Given the description of an element on the screen output the (x, y) to click on. 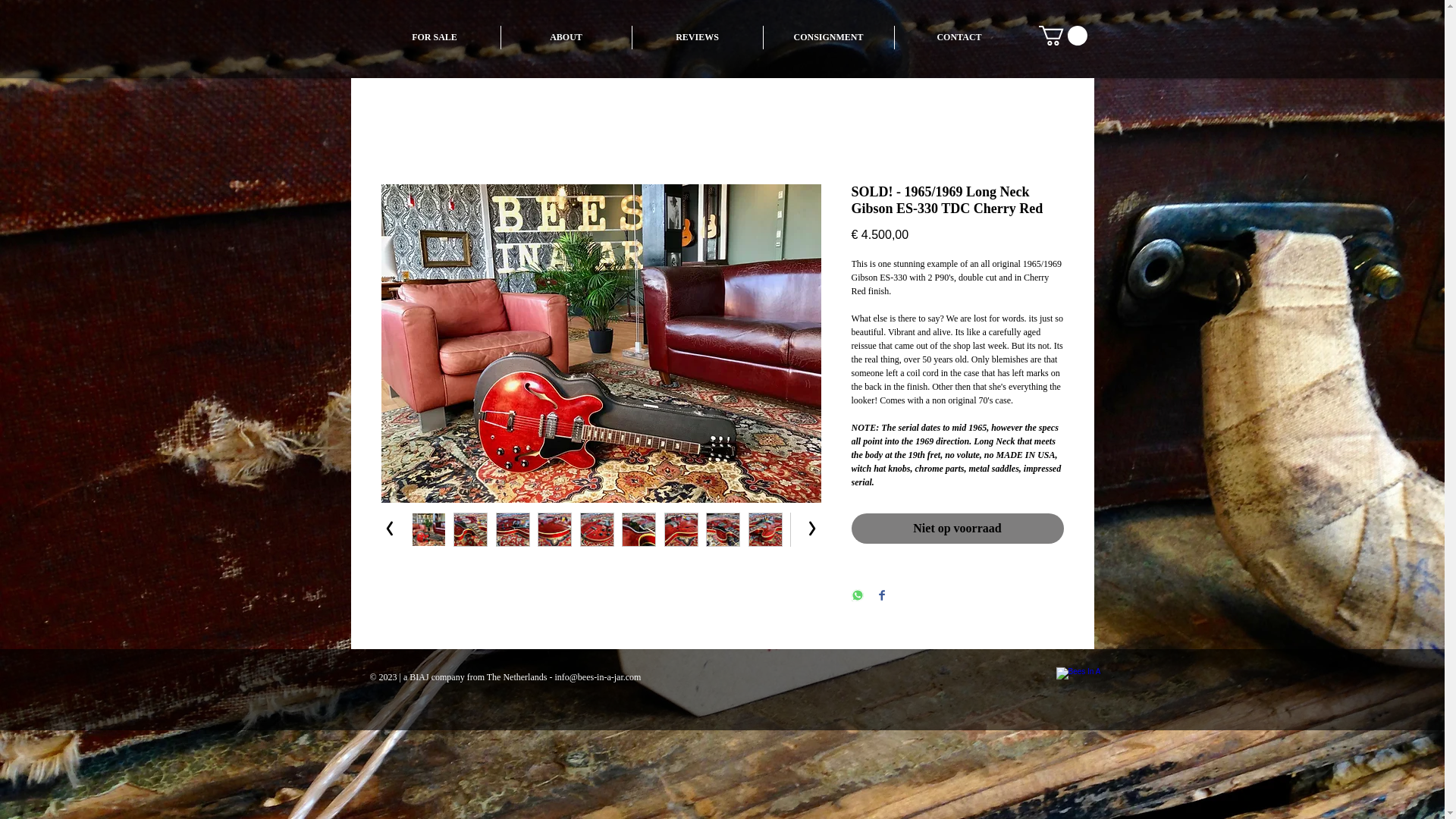
FOR SALE (433, 37)
ABOUT (565, 37)
CONTACT (960, 37)
REVIEWS (696, 37)
Niet op voorraad (956, 528)
CONSIGNMENT (827, 37)
